Given the description of an element on the screen output the (x, y) to click on. 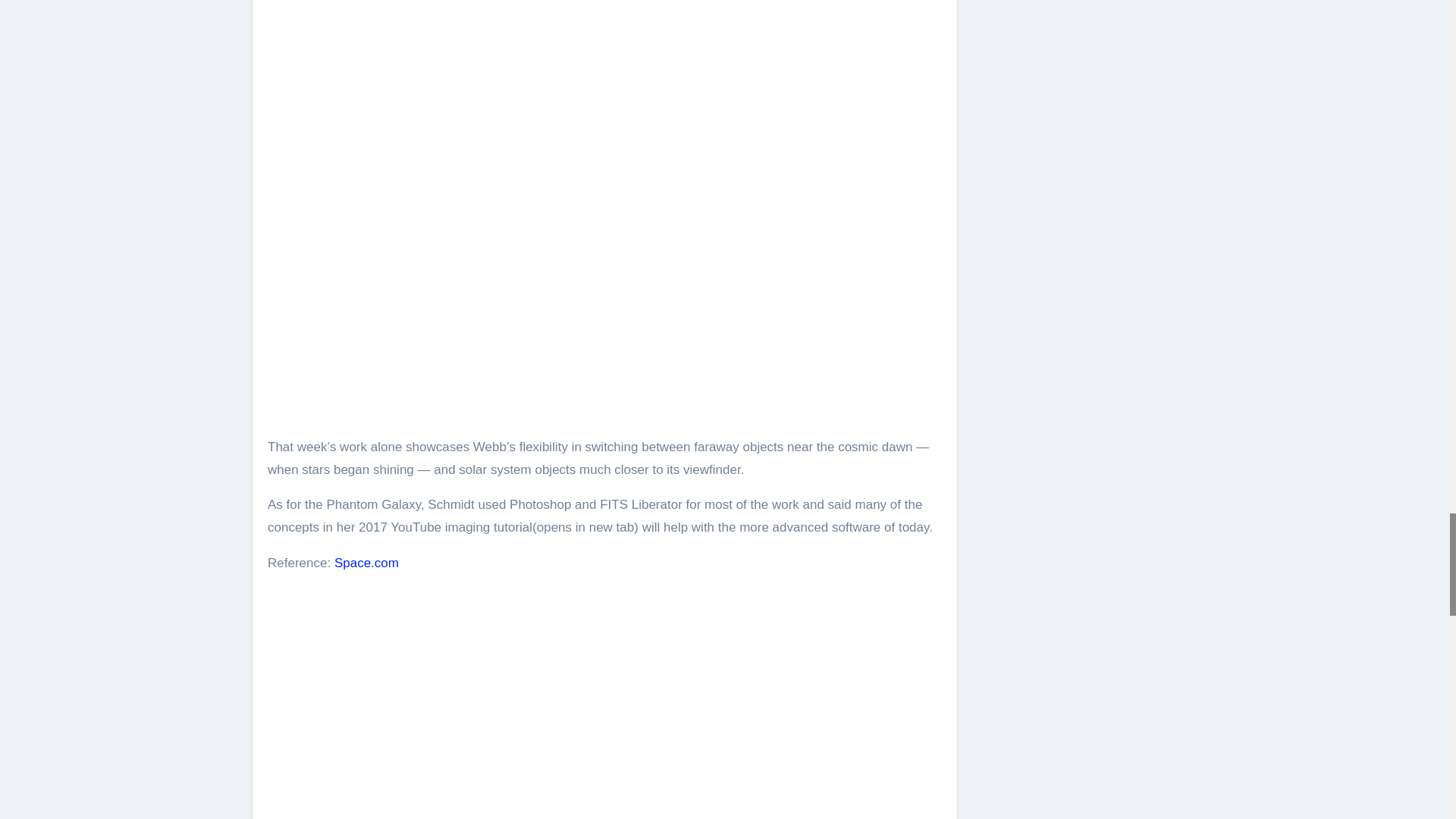
Space.com (366, 563)
